Given the description of an element on the screen output the (x, y) to click on. 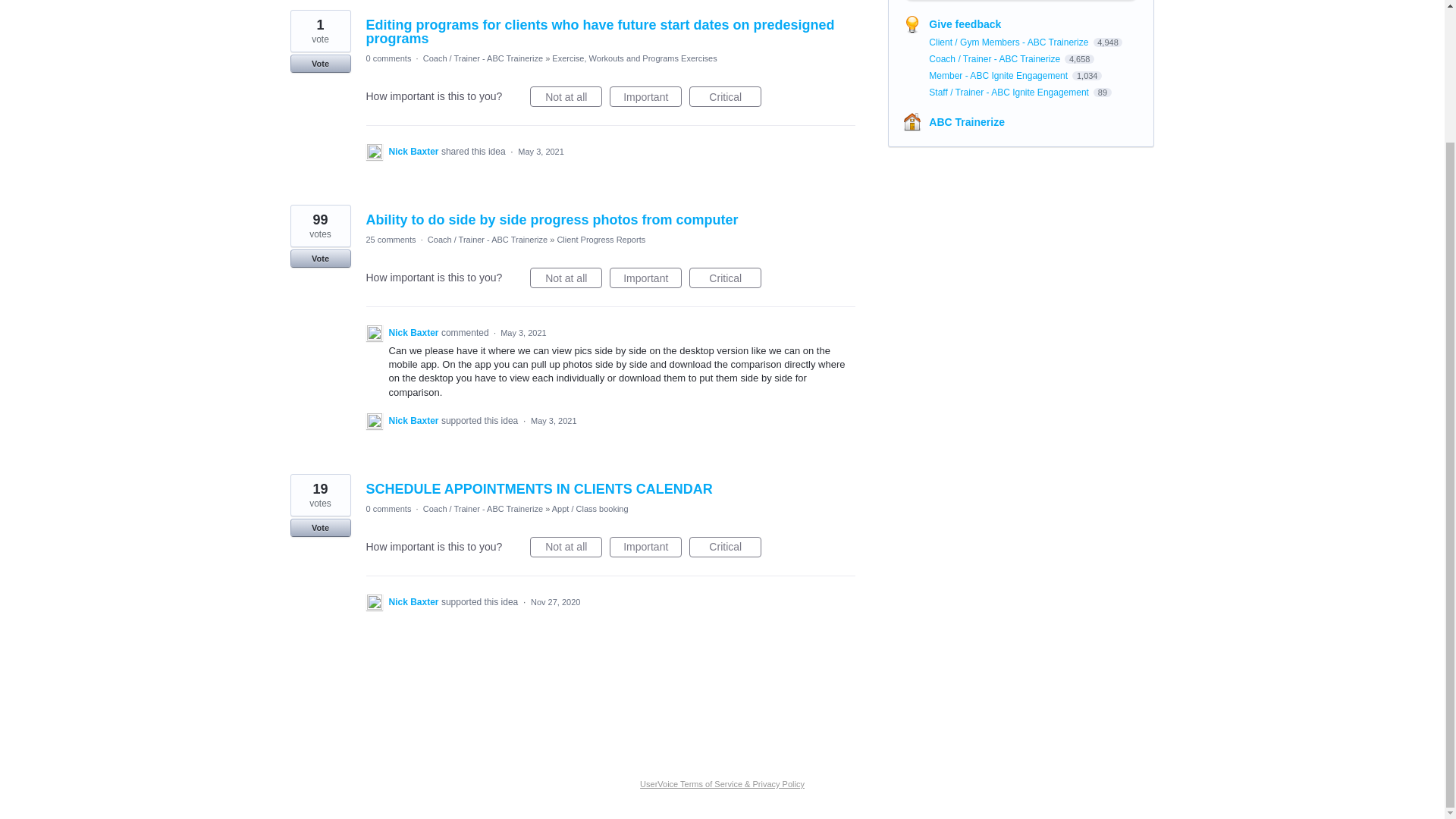
Vote (319, 258)
Critical (724, 96)
Nick Baxter (414, 151)
Exercise, Workouts and Programs Exercises (633, 58)
Not at all (565, 96)
Vote (319, 63)
Ability to do side by side progress photos from computer (551, 219)
Important (645, 96)
0 comments (387, 58)
